Given the description of an element on the screen output the (x, y) to click on. 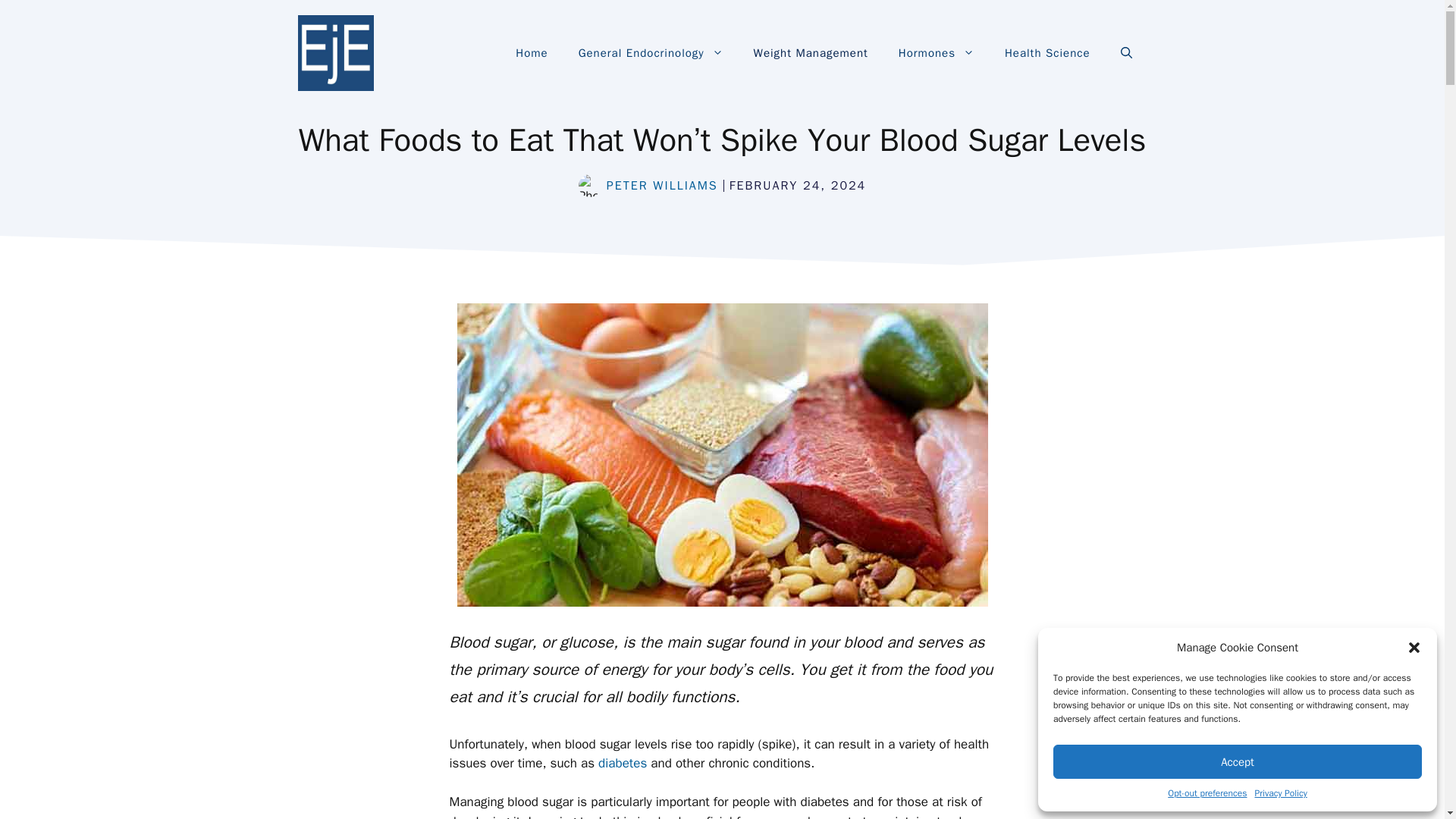
Health Science (1047, 53)
Hormones (936, 53)
Weight Management (810, 53)
PETER WILLIAMS (662, 185)
Home (531, 53)
Opt-out preferences (1206, 793)
diabetes (622, 763)
General Endocrinology (650, 53)
Accept (1237, 761)
Privacy Policy (1279, 793)
